Given the description of an element on the screen output the (x, y) to click on. 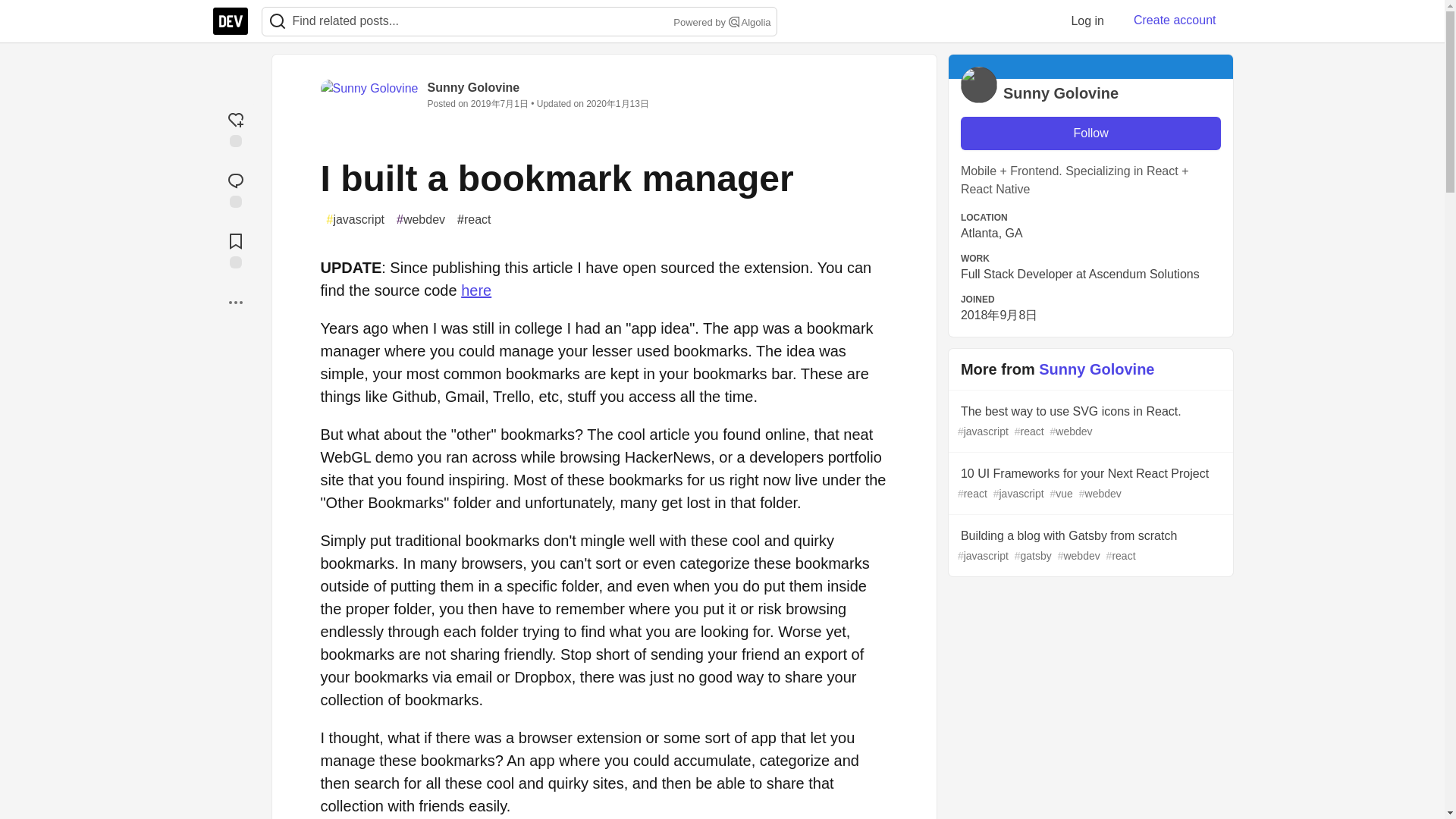
Search (734, 21)
More... (234, 302)
Sunny Golovine (472, 87)
here (476, 289)
Search (276, 21)
More... (234, 302)
Search (277, 21)
Log in (1087, 20)
Create account (1174, 20)
Powered by Search Algolia (720, 22)
